Given the description of an element on the screen output the (x, y) to click on. 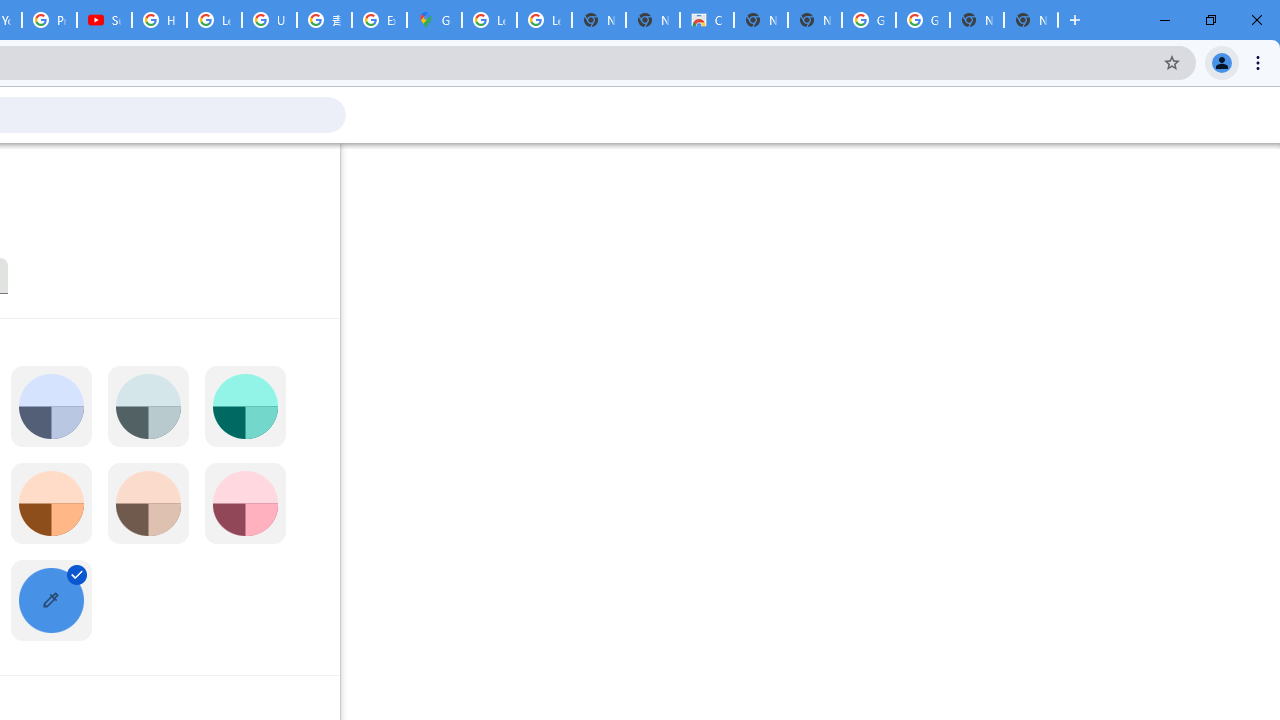
Google Images (922, 20)
New Tab (1030, 20)
How Chrome protects your passwords - Google Chrome Help (158, 20)
Chrome Web Store (706, 20)
Google Maps (434, 20)
Google Images (868, 20)
